Given the description of an element on the screen output the (x, y) to click on. 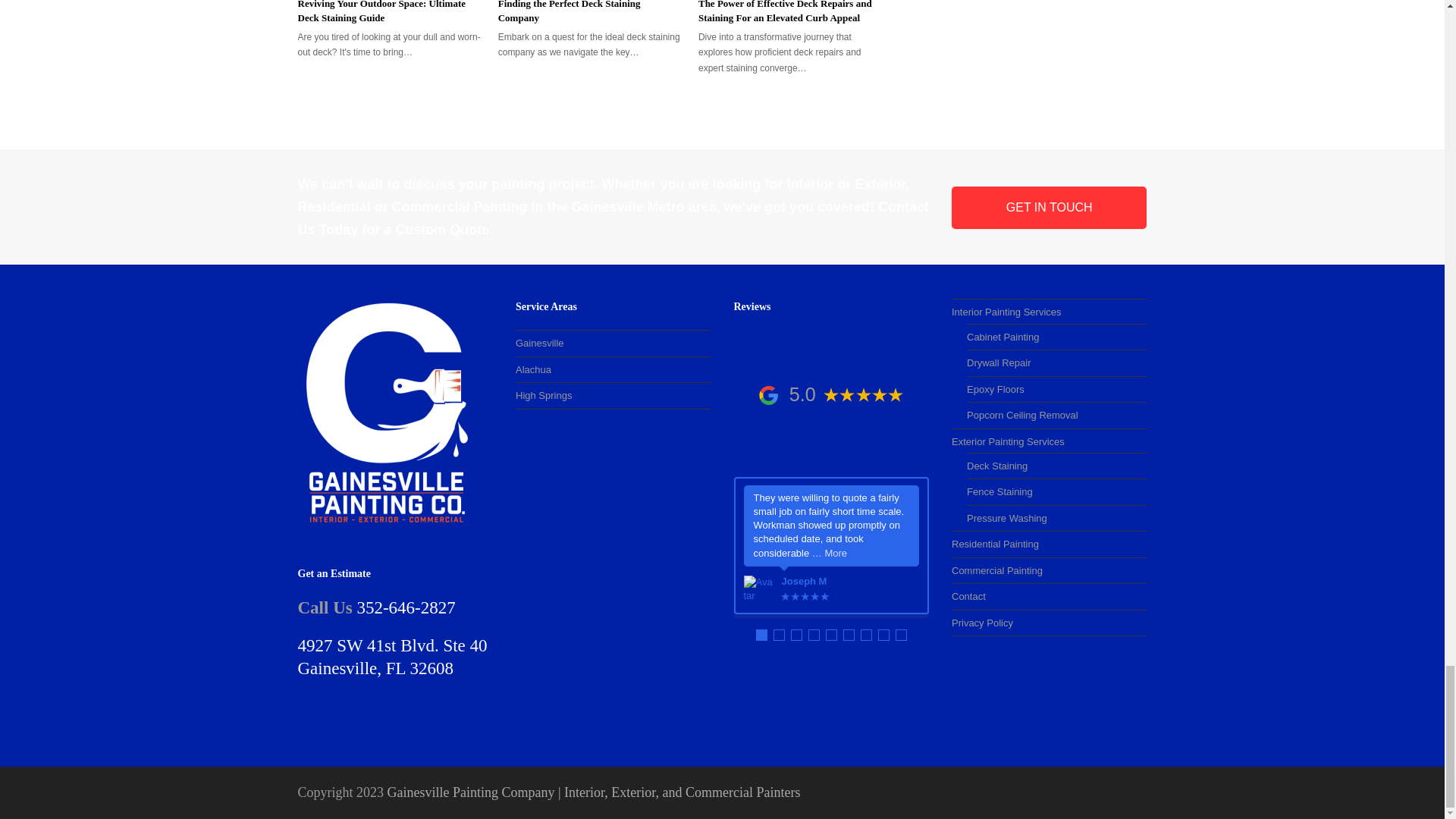
Reviving Your Outdoor Space: Ultimate Deck Staining Guide (380, 12)
GET IN TOUCH (1049, 207)
Powered by Google (767, 394)
Finding the Perfect Deck Staining Company (568, 12)
